Given the description of an element on the screen output the (x, y) to click on. 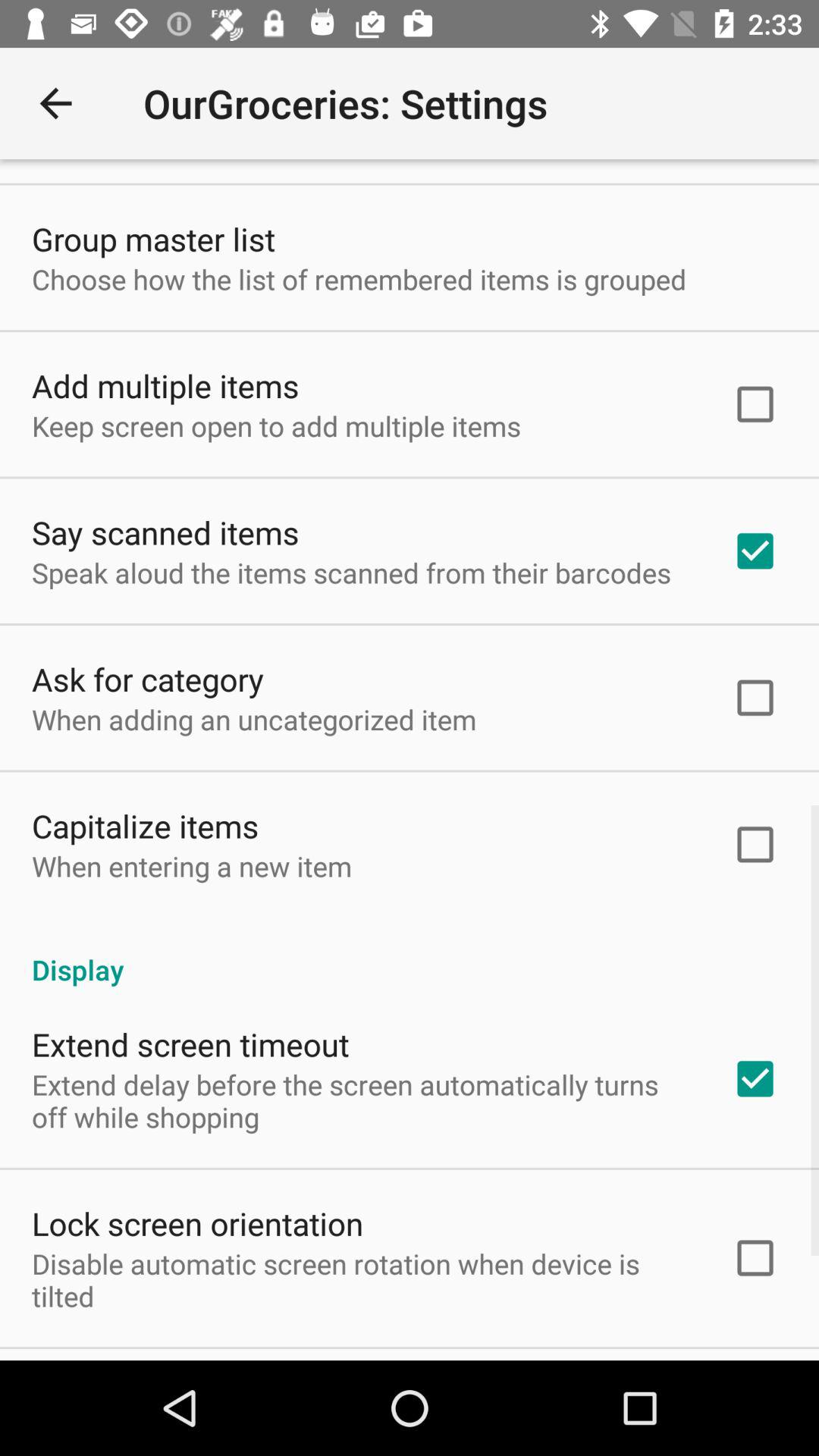
click icon above the choose how the icon (153, 238)
